Given the description of an element on the screen output the (x, y) to click on. 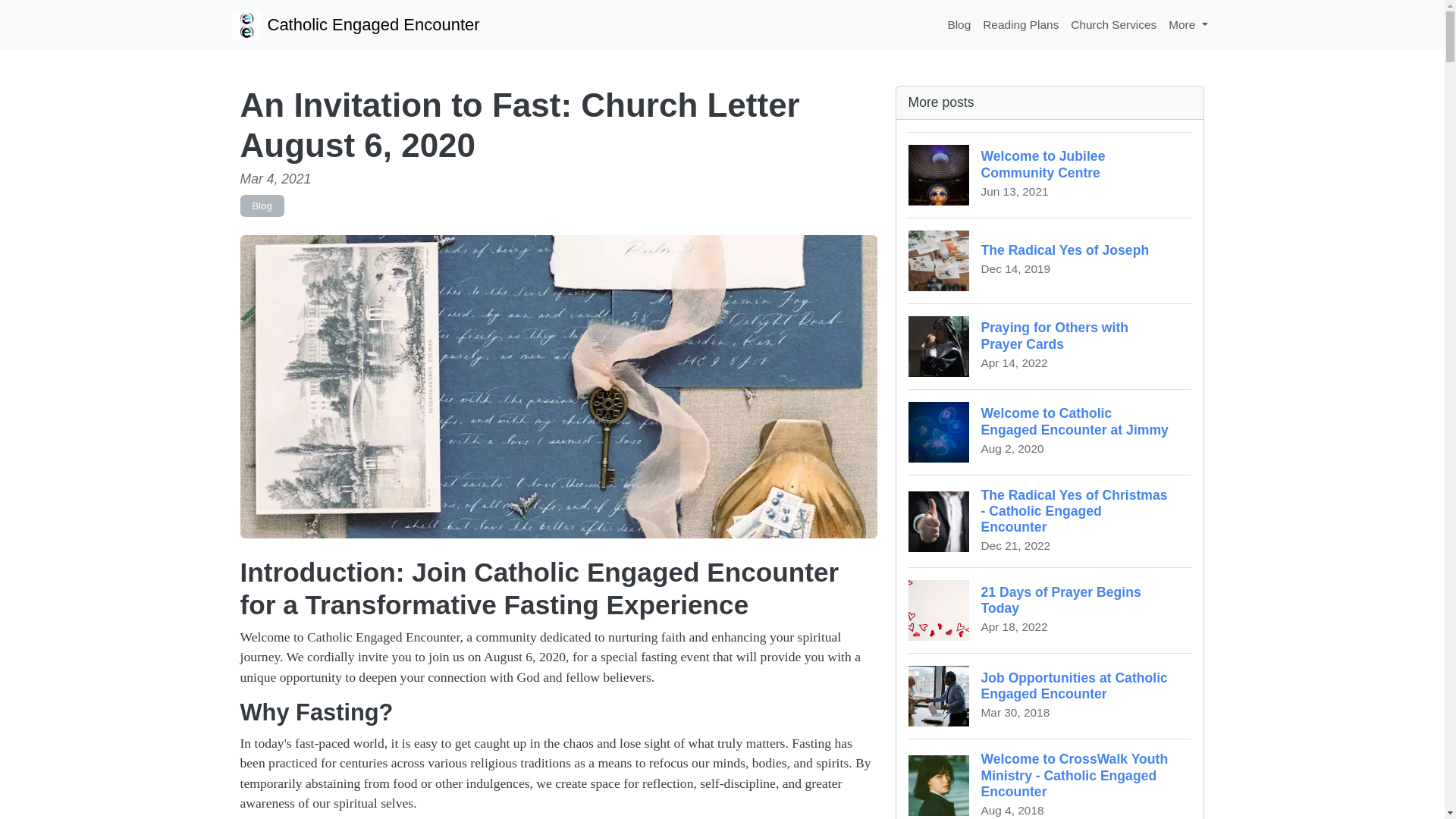
Church Services (1050, 346)
Blog (1050, 260)
Reading Plans (1112, 24)
Catholic Engaged Encounter (1050, 174)
